Given the description of an element on the screen output the (x, y) to click on. 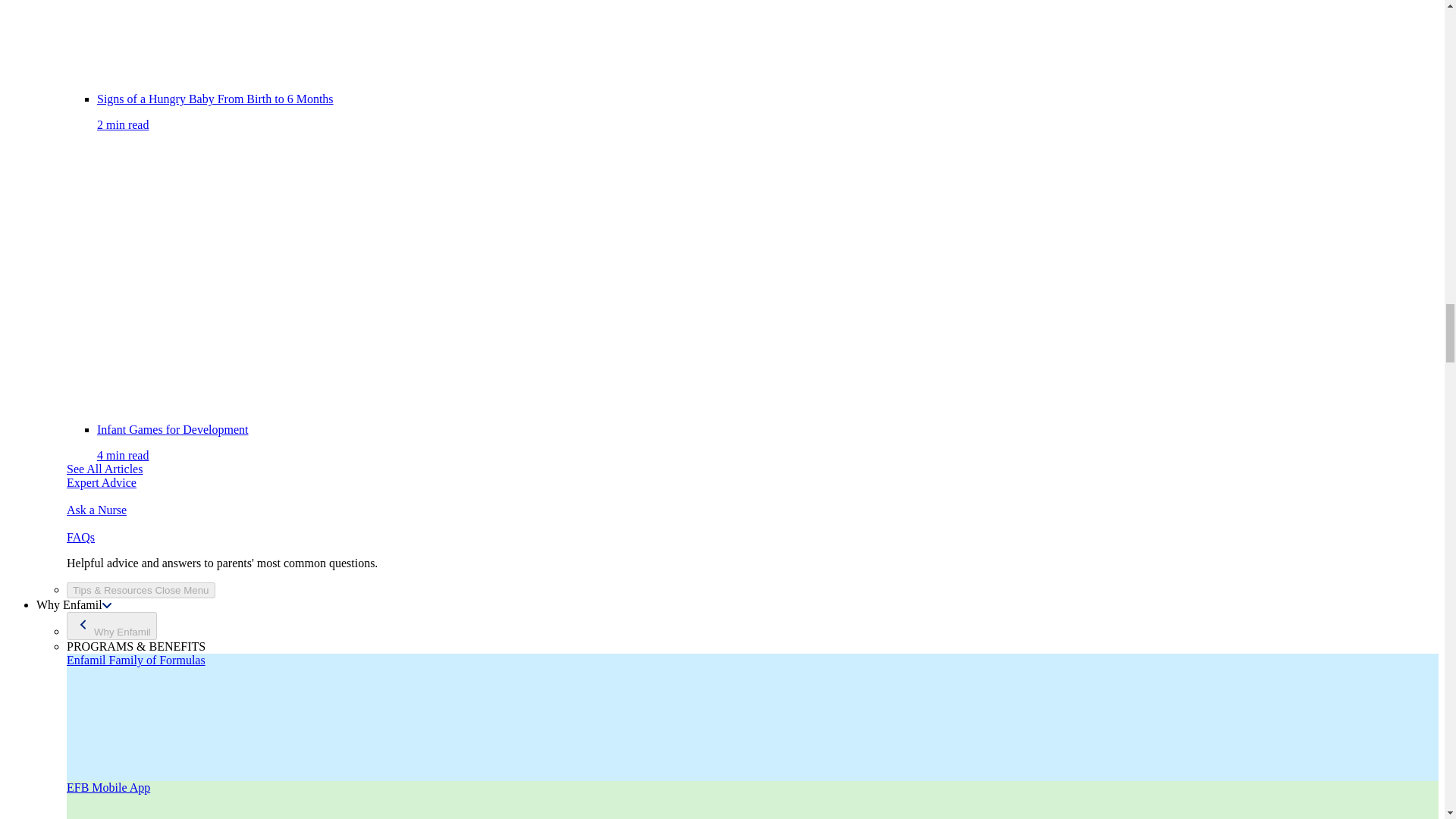
FAQs (80, 536)
FAQs (96, 509)
FAQs (101, 481)
Created with Lunacy (83, 624)
